Given the description of an element on the screen output the (x, y) to click on. 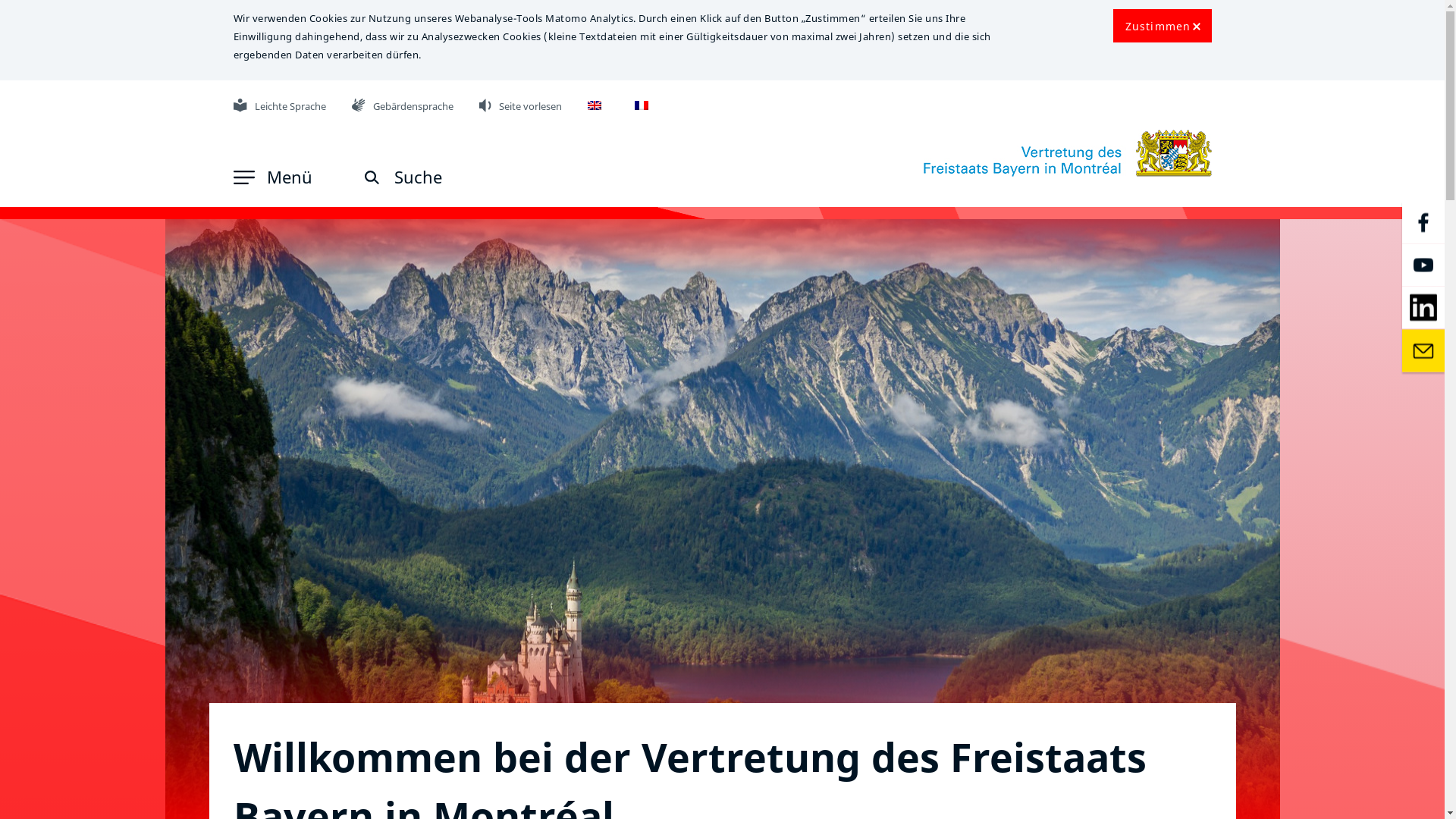
Youtube Element type: hover (1423, 265)
Zustimmen Element type: text (1162, 25)
Seite vorlesen Element type: text (520, 105)
Suche starten Element type: hover (371, 177)
Kontakt Element type: hover (1423, 350)
Gebaerdensprache Element type: hover (358, 105)
Leichte_Sprache Element type: hover (240, 105)
Menu aufklappen Element type: hover (243, 177)
Leichte Sprache Element type: text (279, 105)
Facebook Element type: hover (1423, 222)
Vorlesen Element type: hover (485, 105)
LinkedIn Element type: hover (1423, 307)
logo_de Element type: hover (1067, 152)
